Given the description of an element on the screen output the (x, y) to click on. 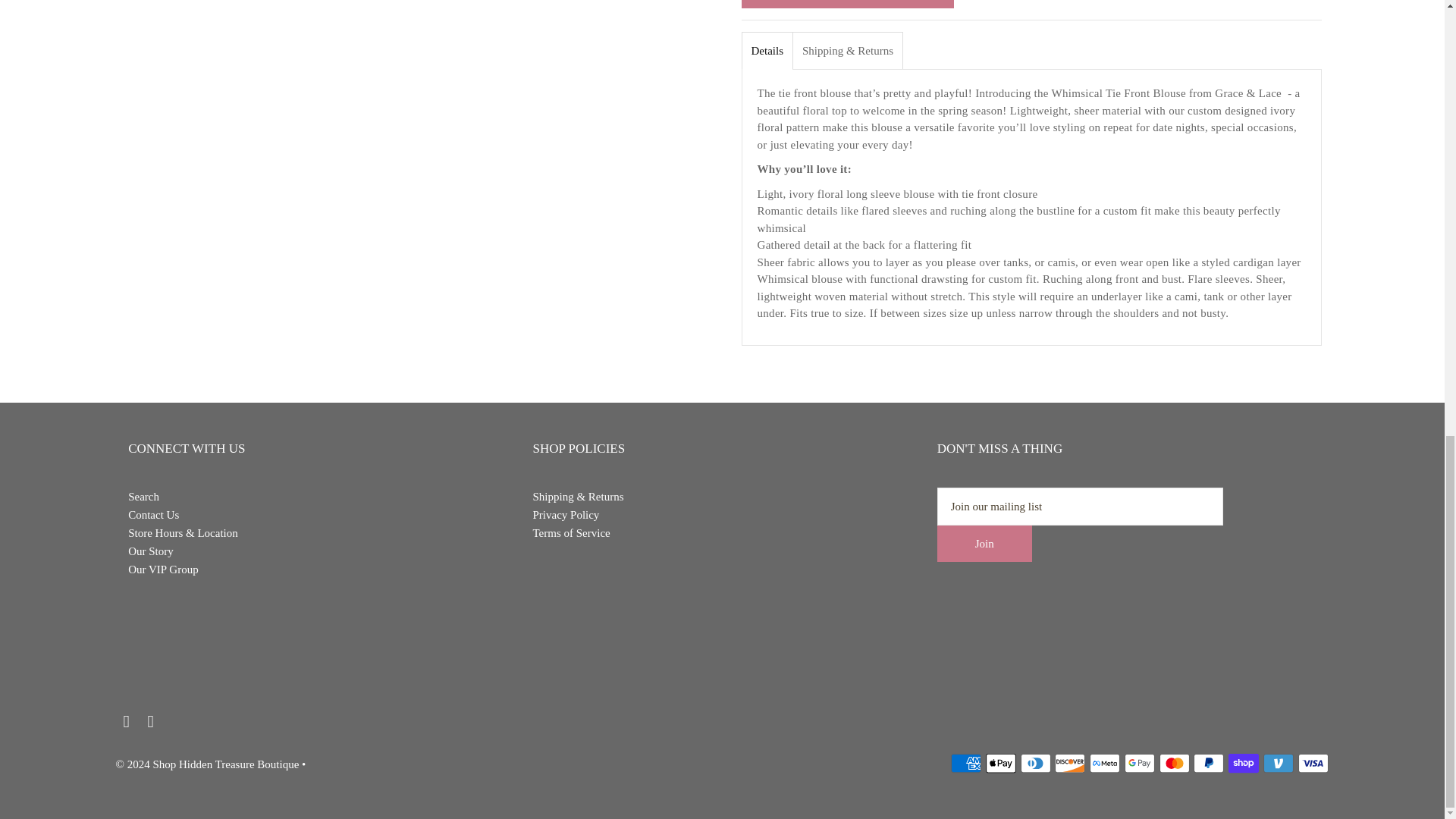
Shop Pay (1243, 763)
Diners Club (1035, 763)
American Express (965, 763)
Mastercard (1173, 763)
Meta Pay (1104, 763)
Apple Pay (1000, 763)
Add to Cart (847, 4)
PayPal (1208, 763)
Discover (1069, 763)
Venmo (1278, 763)
